Given the description of an element on the screen output the (x, y) to click on. 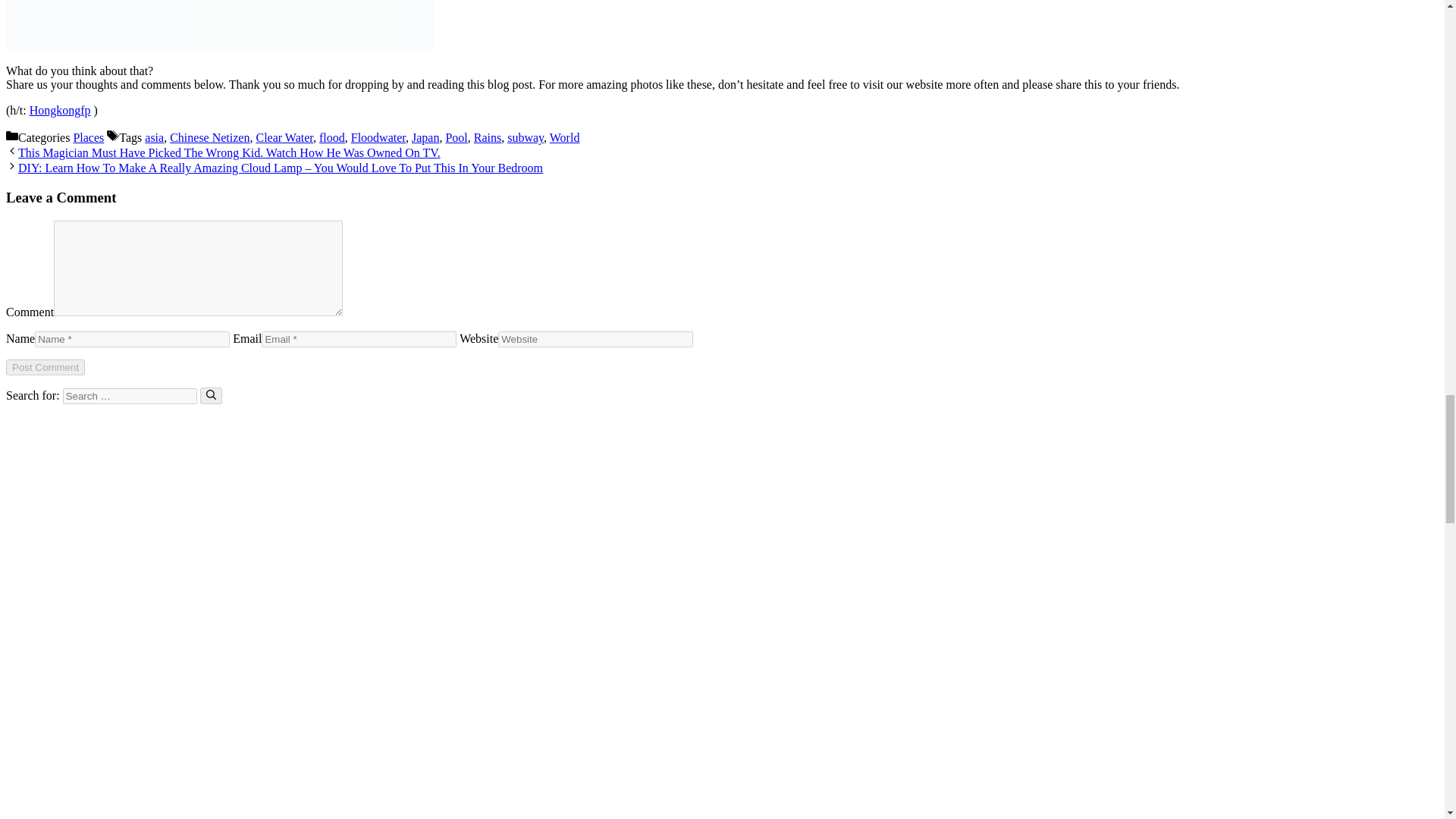
Japan (425, 137)
Pool (456, 137)
Floodwater (378, 137)
Post Comment (44, 367)
asia (153, 137)
Hongkongfp (59, 110)
flood (331, 137)
Places (87, 137)
Search for: (129, 396)
Clear Water (284, 137)
Chinese Netizen (209, 137)
